Given the description of an element on the screen output the (x, y) to click on. 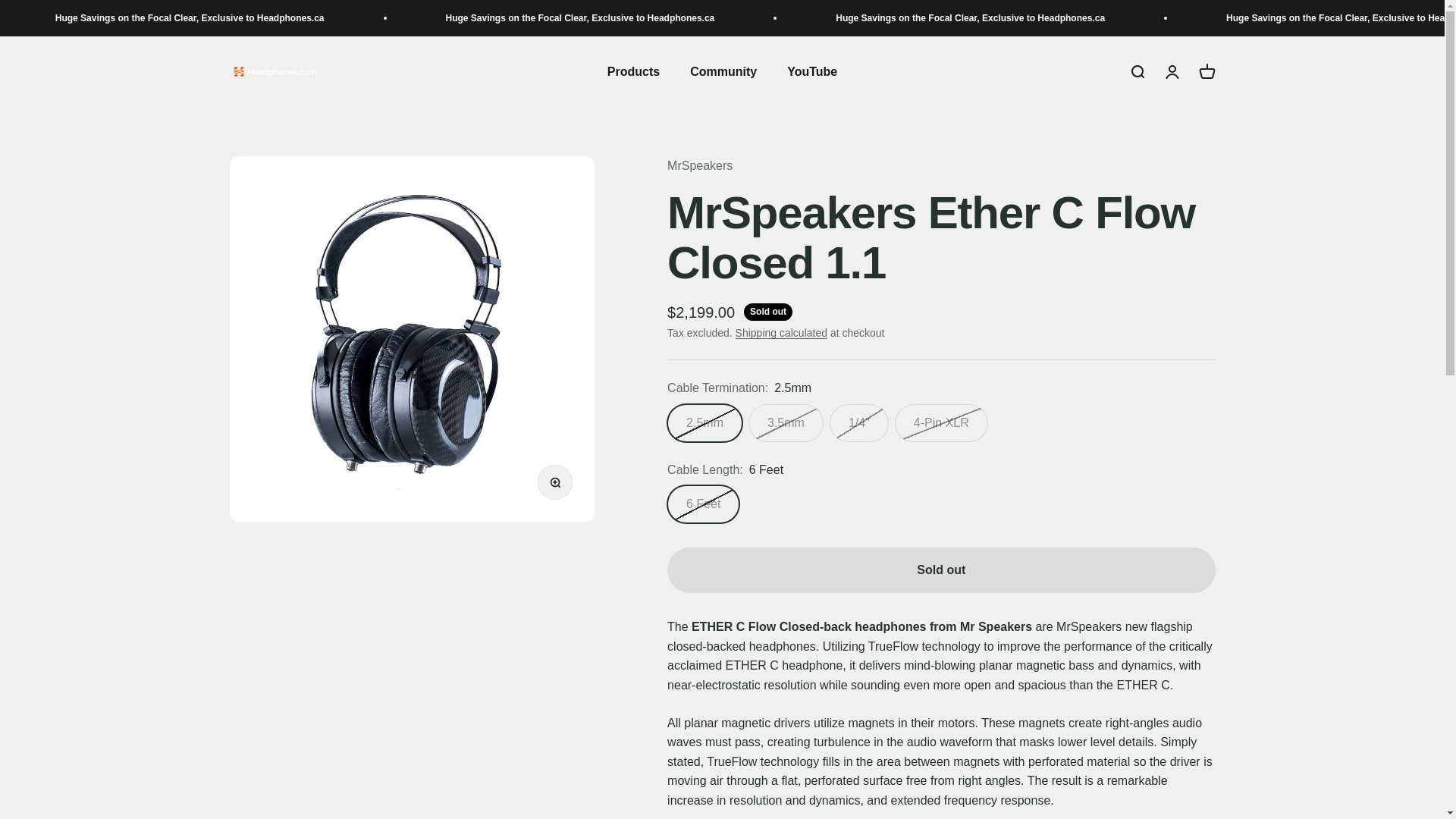
YouTube (812, 71)
Open account page (1171, 71)
Products (633, 71)
MrSpeakers (699, 164)
Sold out (940, 569)
Open search (1136, 71)
Shipping calculated (781, 332)
